Given the description of an element on the screen output the (x, y) to click on. 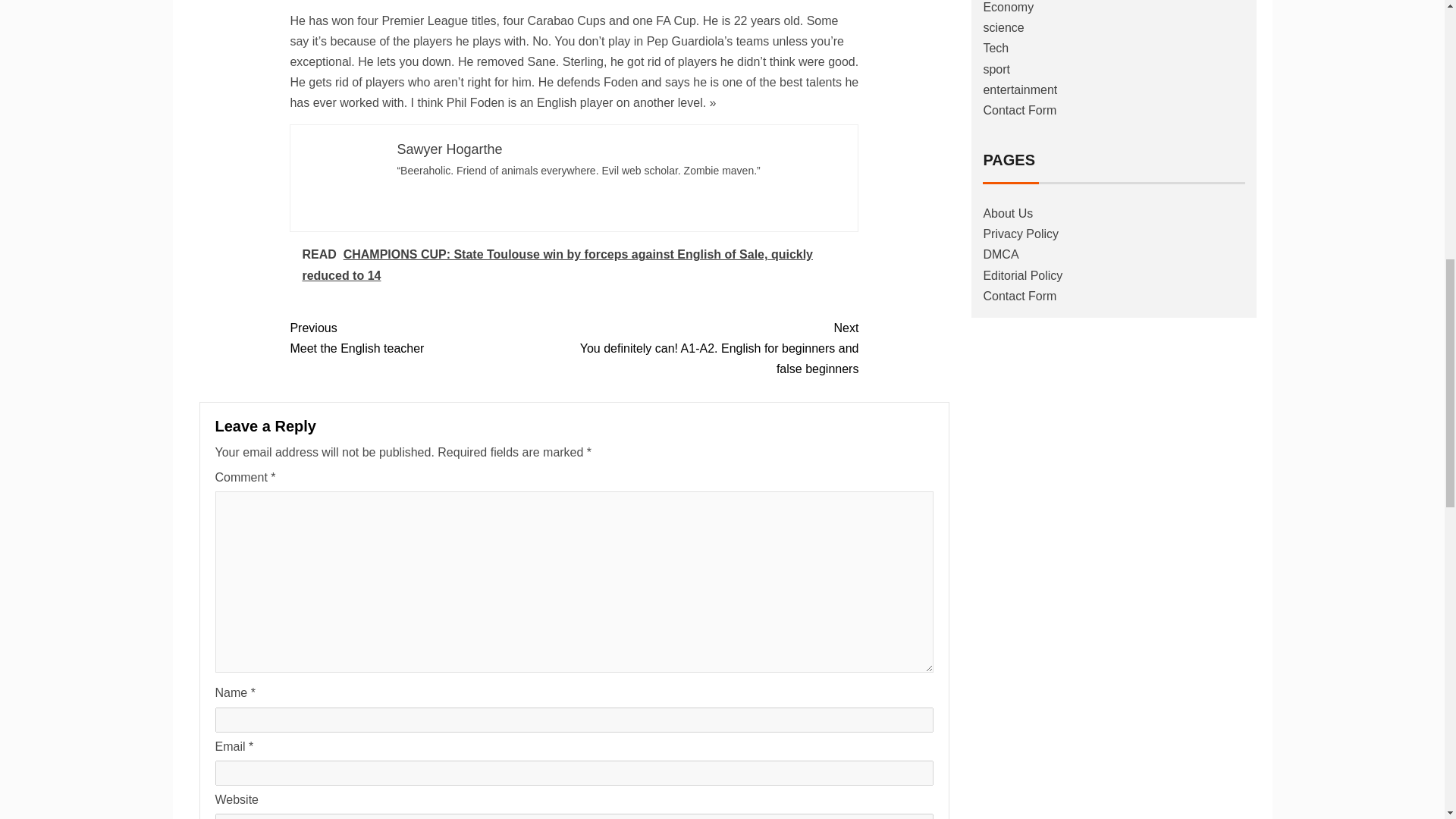
Sawyer Hogarthe (449, 149)
